Given the description of an element on the screen output the (x, y) to click on. 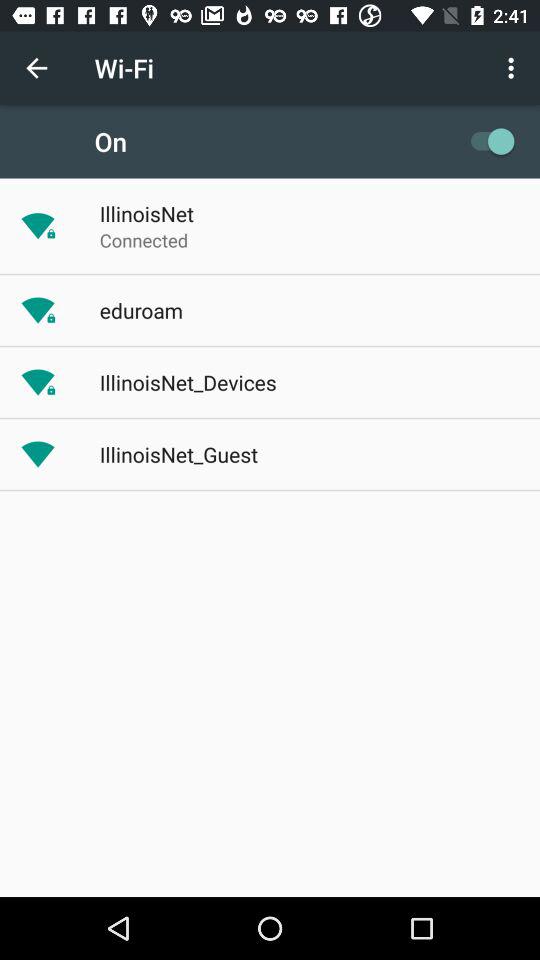
choose the item above eduroam (143, 239)
